Given the description of an element on the screen output the (x, y) to click on. 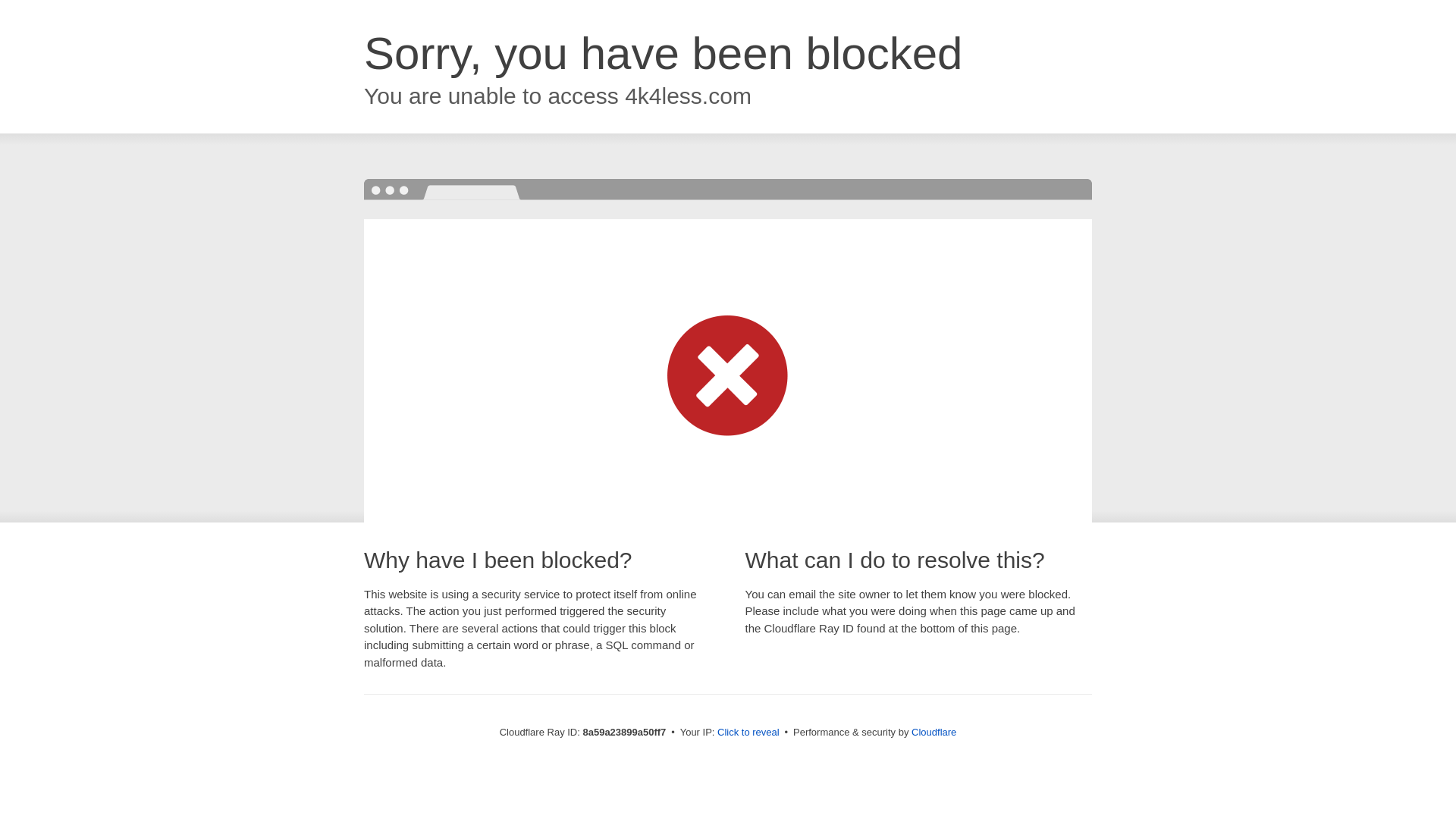
Click to reveal (747, 732)
Cloudflare (933, 731)
